Given the description of an element on the screen output the (x, y) to click on. 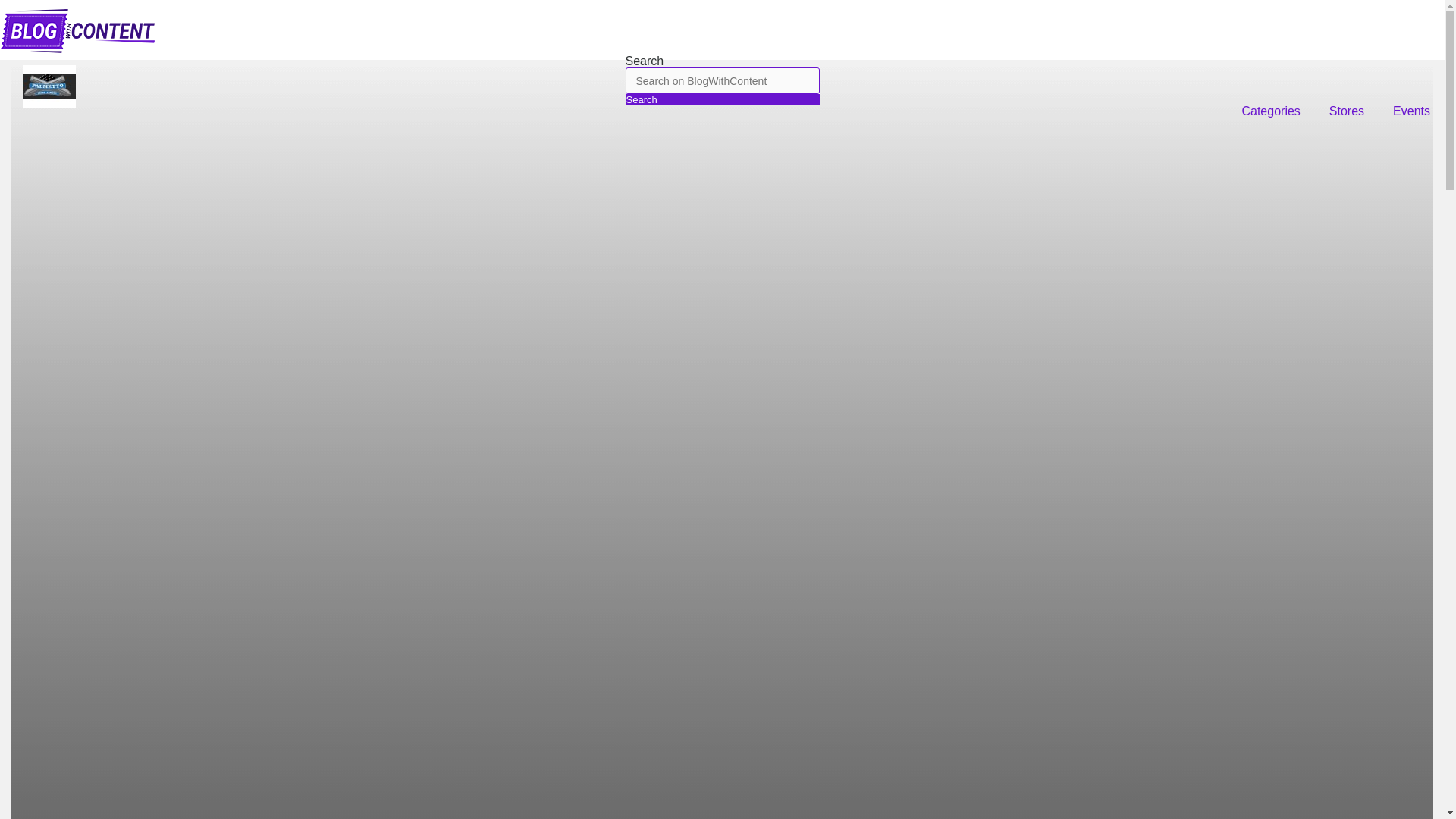
Categories (1270, 111)
Stores (1346, 111)
Thinx (49, 86)
BlogWithContent (77, 48)
